Given the description of an element on the screen output the (x, y) to click on. 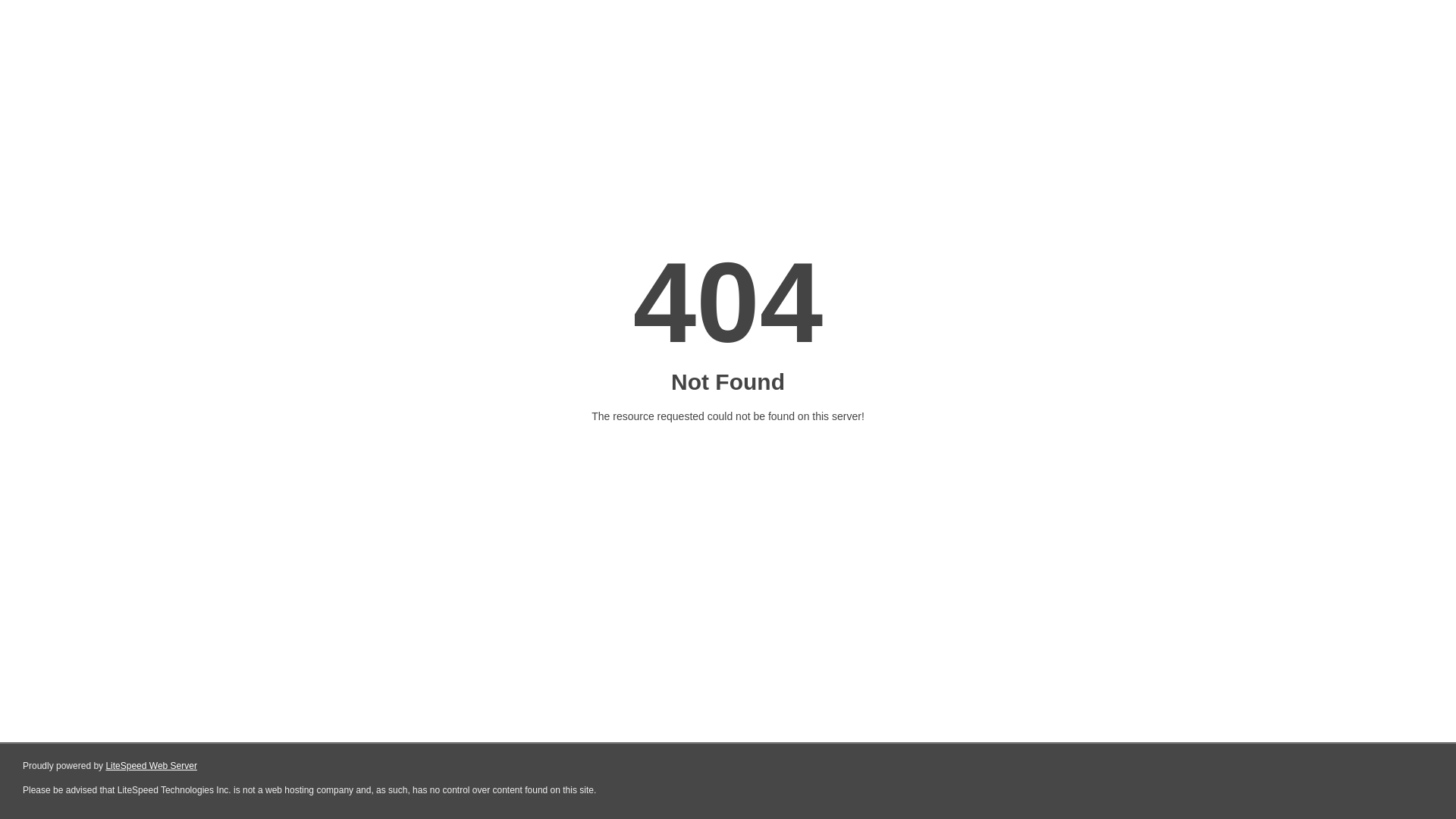
LiteSpeed Web Server Element type: text (151, 765)
